Given the description of an element on the screen output the (x, y) to click on. 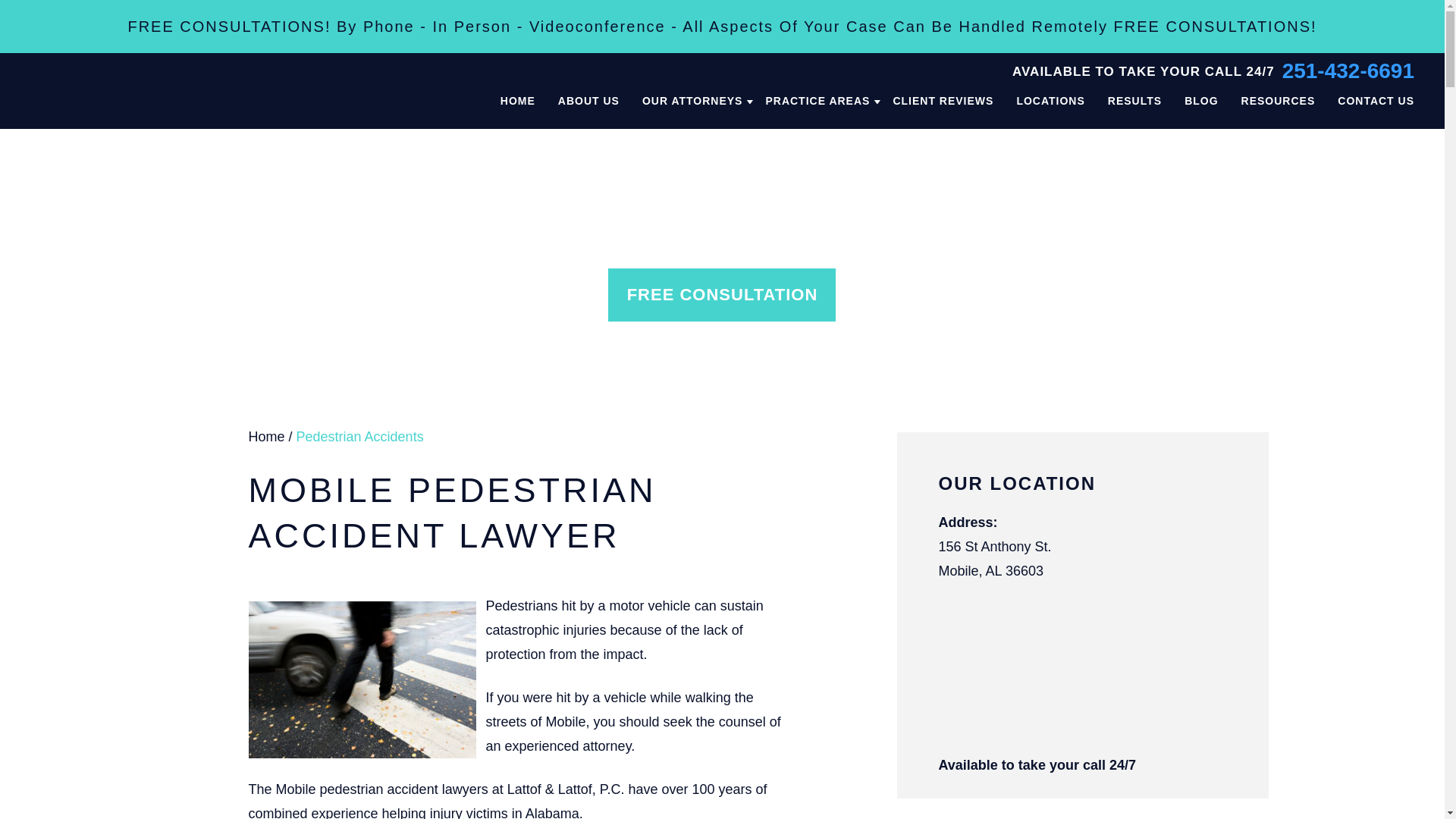
FREE CONSULTATION (721, 294)
RESOURCES (1278, 100)
CONTACT US (1375, 100)
BLOG (1201, 100)
ABOUT US (588, 100)
CLIENT REVIEWS (942, 100)
PRACTICE AREAS (817, 100)
HOME (517, 100)
Home (266, 436)
RESULTS (1134, 100)
